Given the description of an element on the screen output the (x, y) to click on. 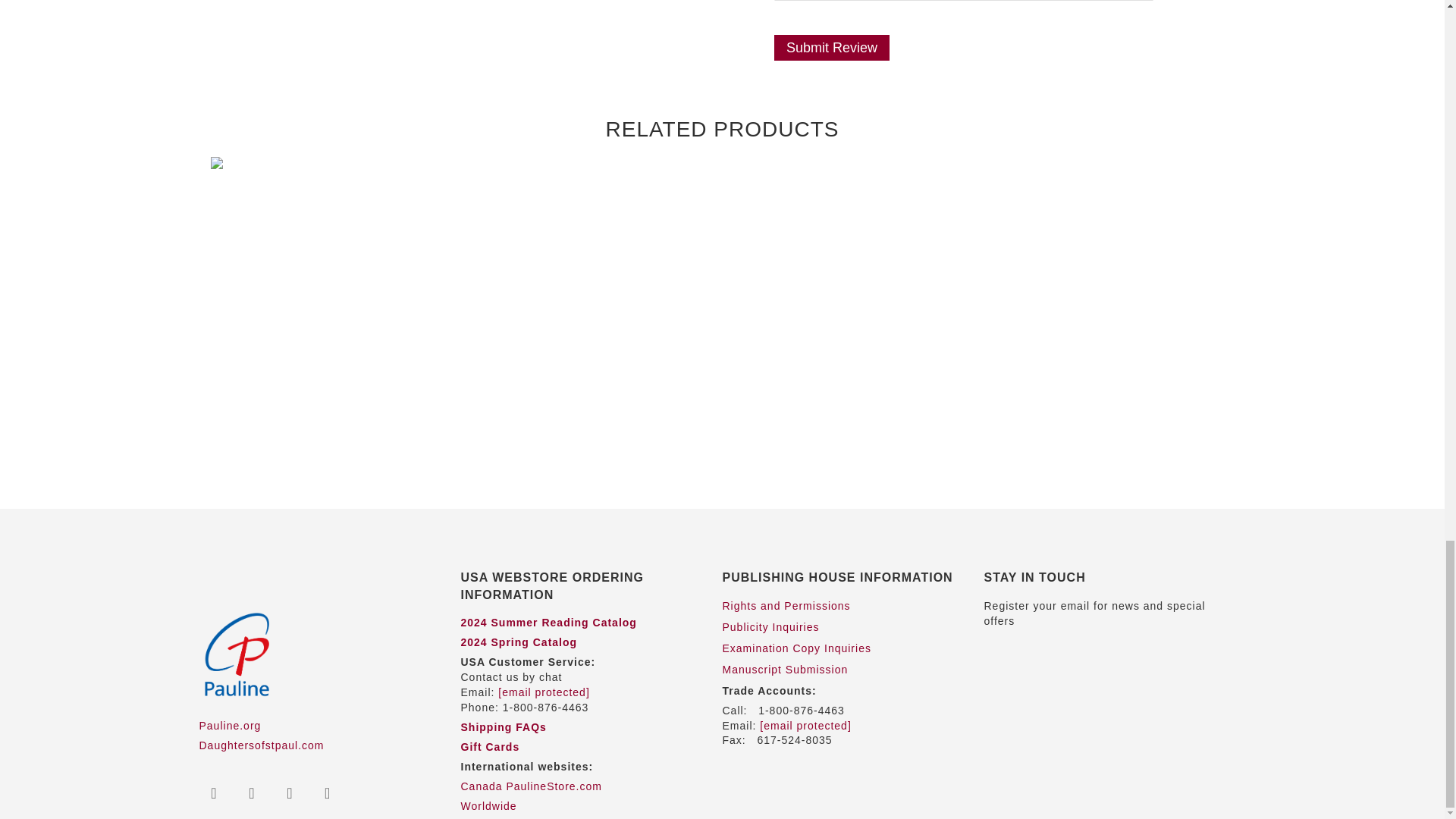
Add to Cart (924, 440)
Add to Cart (727, 440)
Add to Cart (311, 440)
Add to Cart (519, 440)
